Given the description of an element on the screen output the (x, y) to click on. 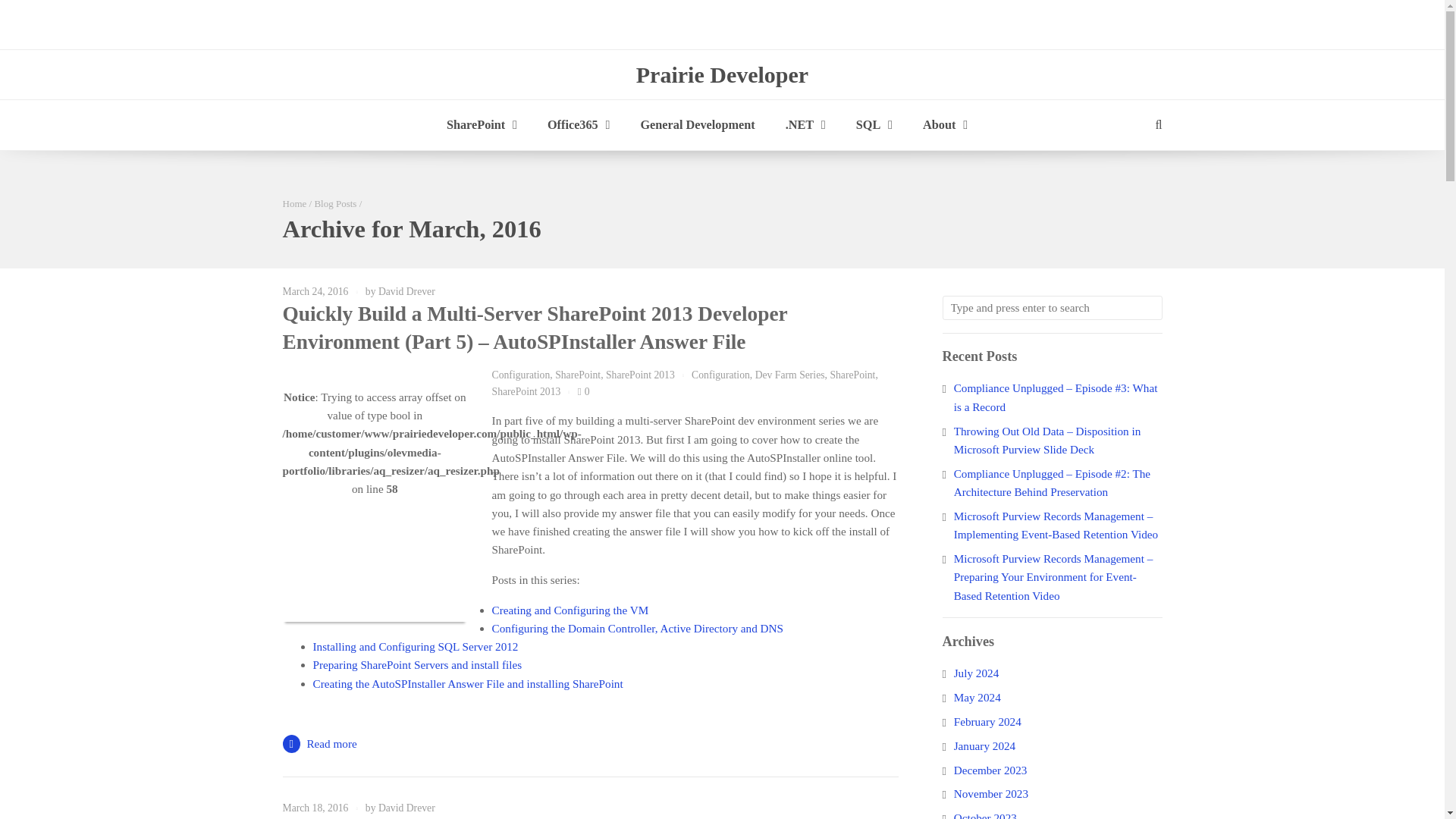
LinkedIn (1120, 27)
About (944, 124)
General Development (697, 124)
Posts by David Drever (406, 291)
Office365 (578, 124)
.NET (805, 124)
SharePoint (481, 124)
Twitter (1149, 27)
Prairie Developer (722, 74)
Posts by David Drever (406, 808)
